Given the description of an element on the screen output the (x, y) to click on. 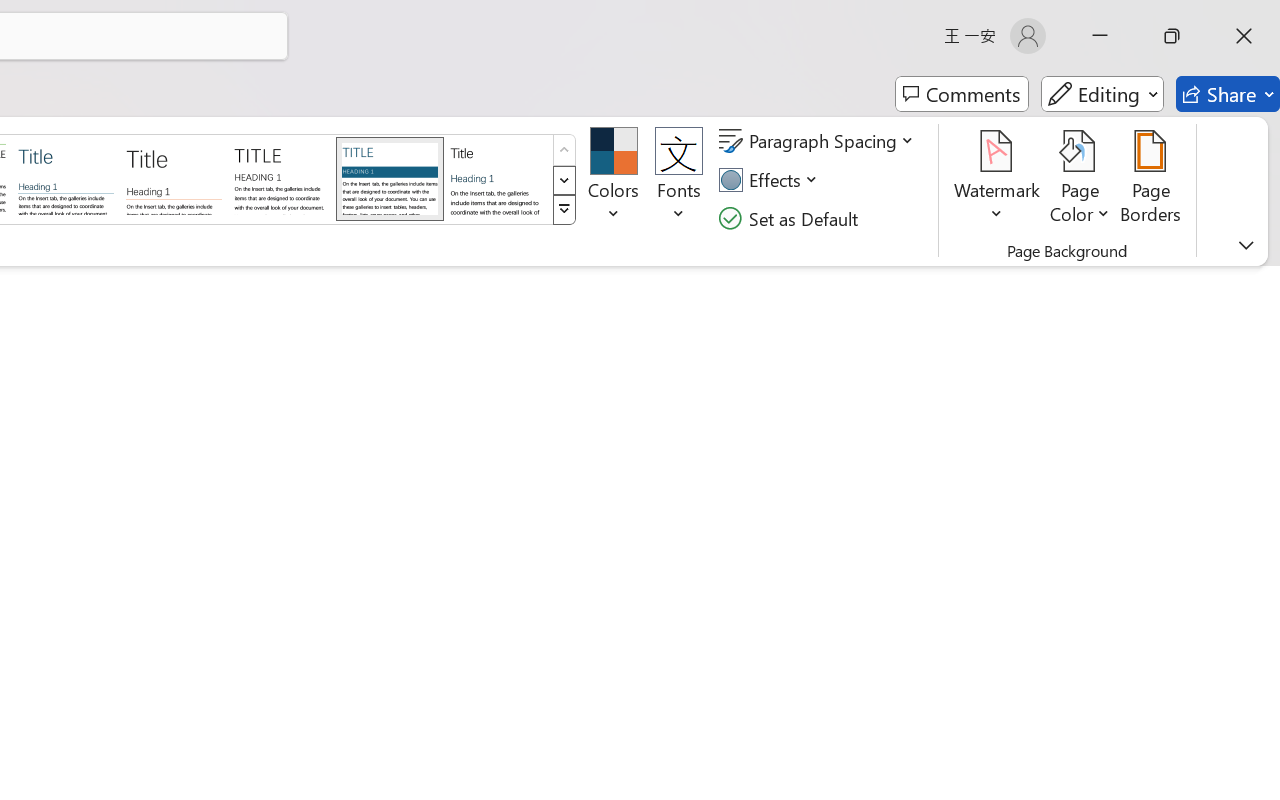
Paragraph Spacing (819, 141)
Minimize (1099, 36)
Row Down (564, 180)
Effects (771, 179)
Lines (Stylish) (173, 178)
Close (1244, 36)
Restore Down (1172, 36)
Shaded (389, 178)
Class: NetUIImage (564, 210)
Fonts (678, 179)
Lines (Simple) (65, 178)
Editing (1101, 94)
Style Set (564, 209)
Set as Default (791, 218)
Colors (613, 179)
